Given the description of an element on the screen output the (x, y) to click on. 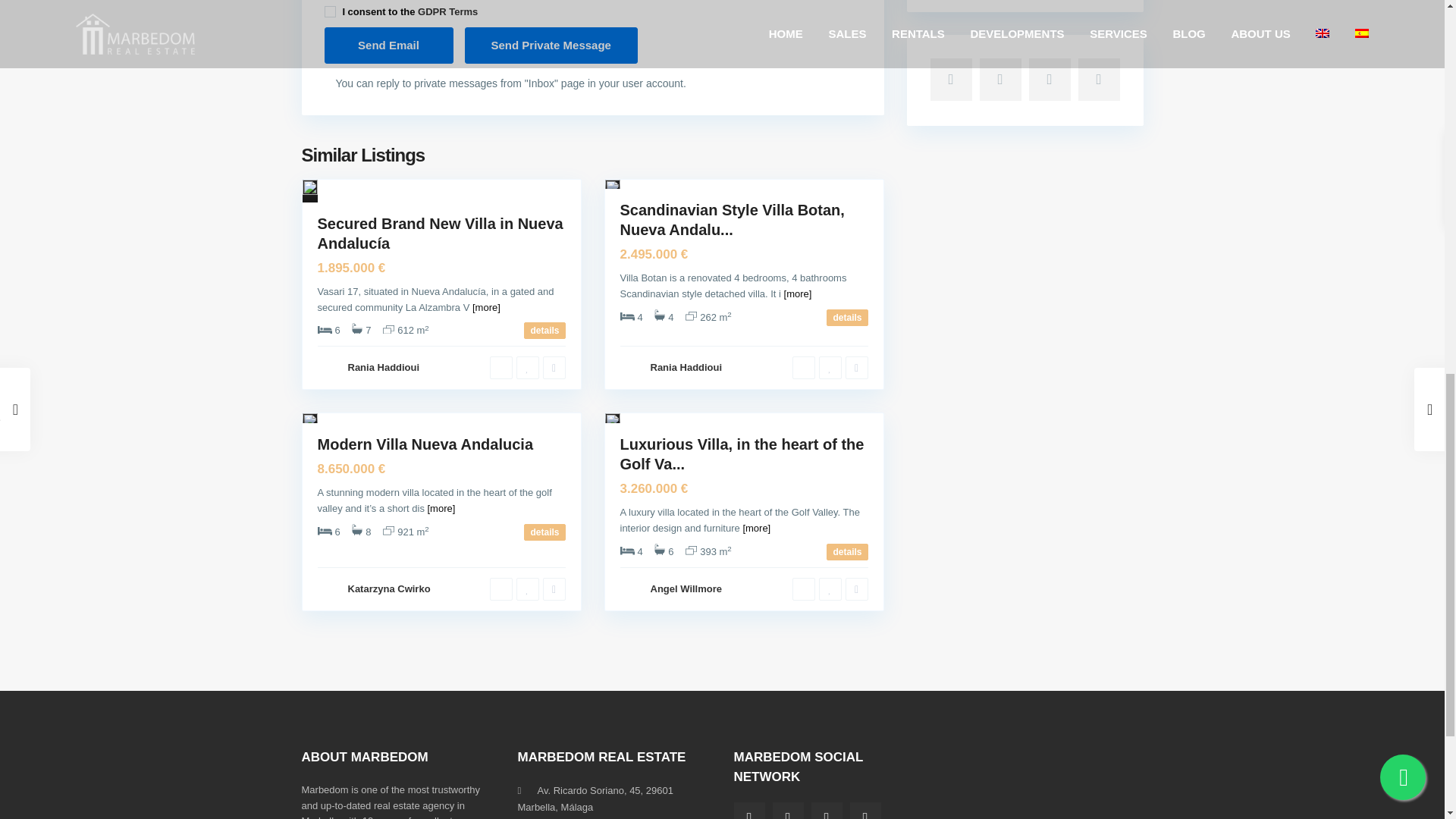
on (330, 11)
Send Private Message (550, 45)
Send Email (388, 45)
